Given the description of an element on the screen output the (x, y) to click on. 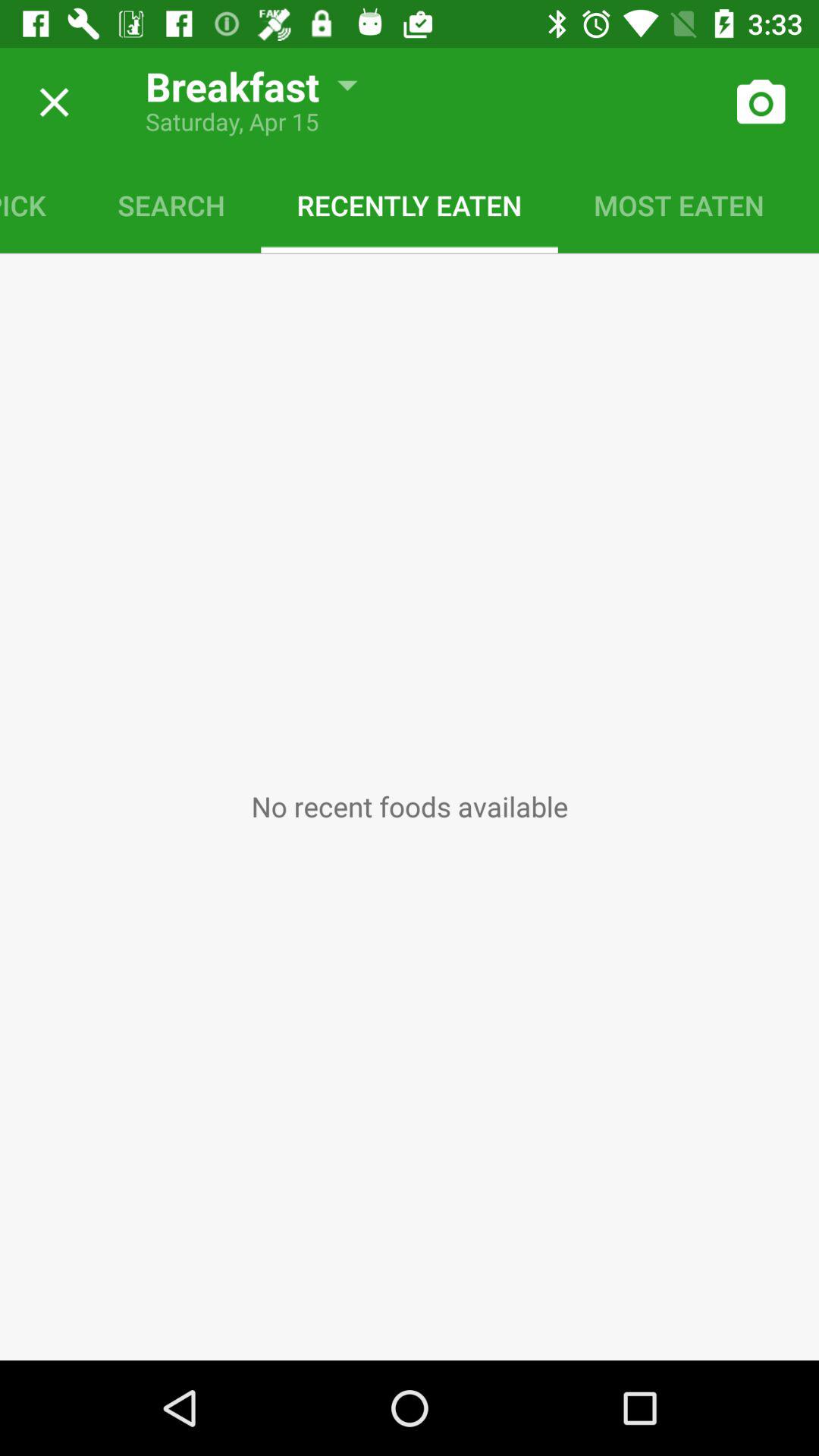
select item to the right of the breakfast icon (760, 102)
